Given the description of an element on the screen output the (x, y) to click on. 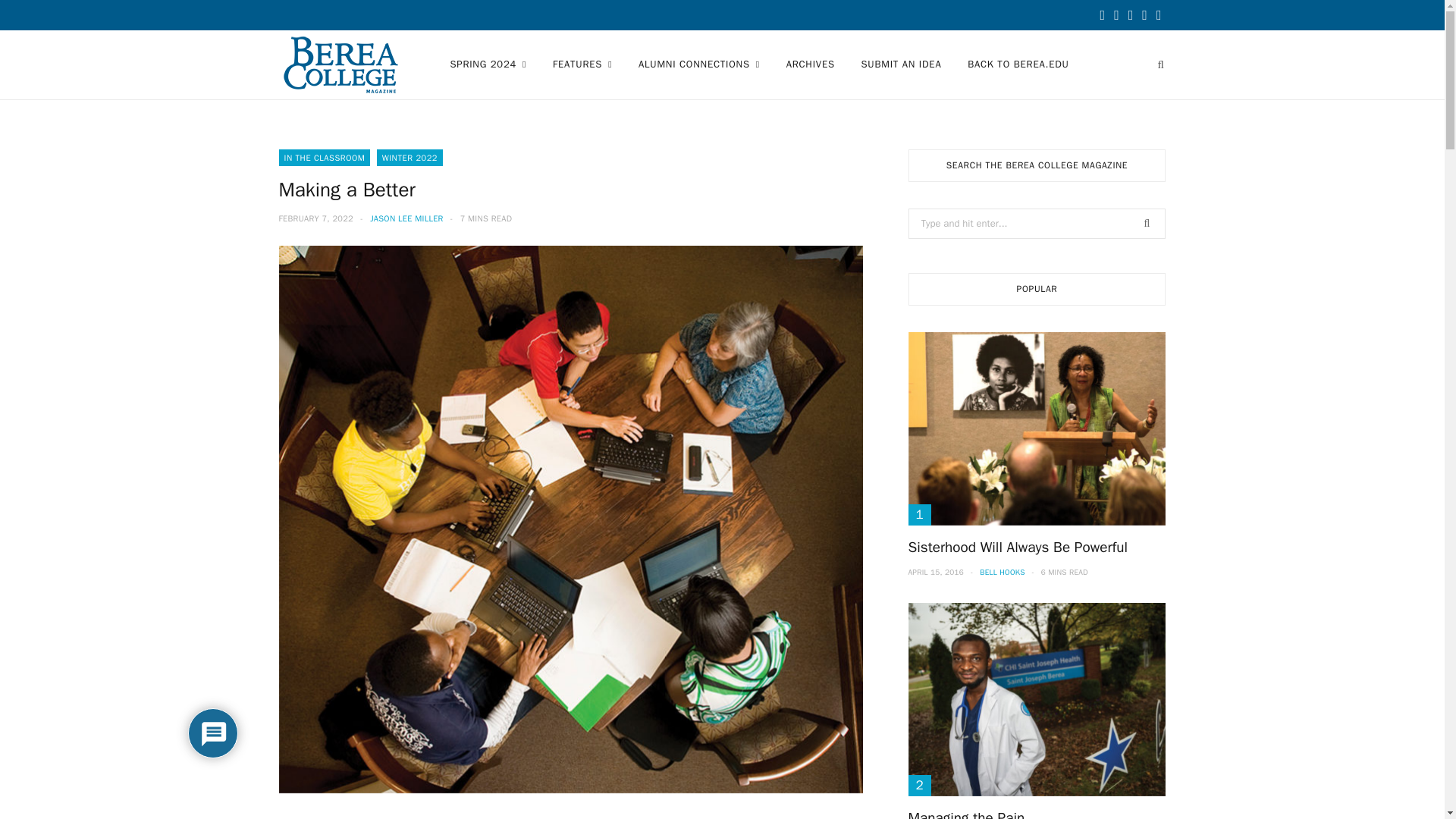
Posts by Jason Lee Miller (406, 217)
SUBMIT AN IDEA (900, 64)
FEATURES (582, 64)
ARCHIVES (809, 64)
ALUMNI CONNECTIONS (699, 64)
BACK TO BEREA.EDU (1018, 64)
Berea College Magazine (340, 64)
SPRING 2024 (487, 64)
